Given the description of an element on the screen output the (x, y) to click on. 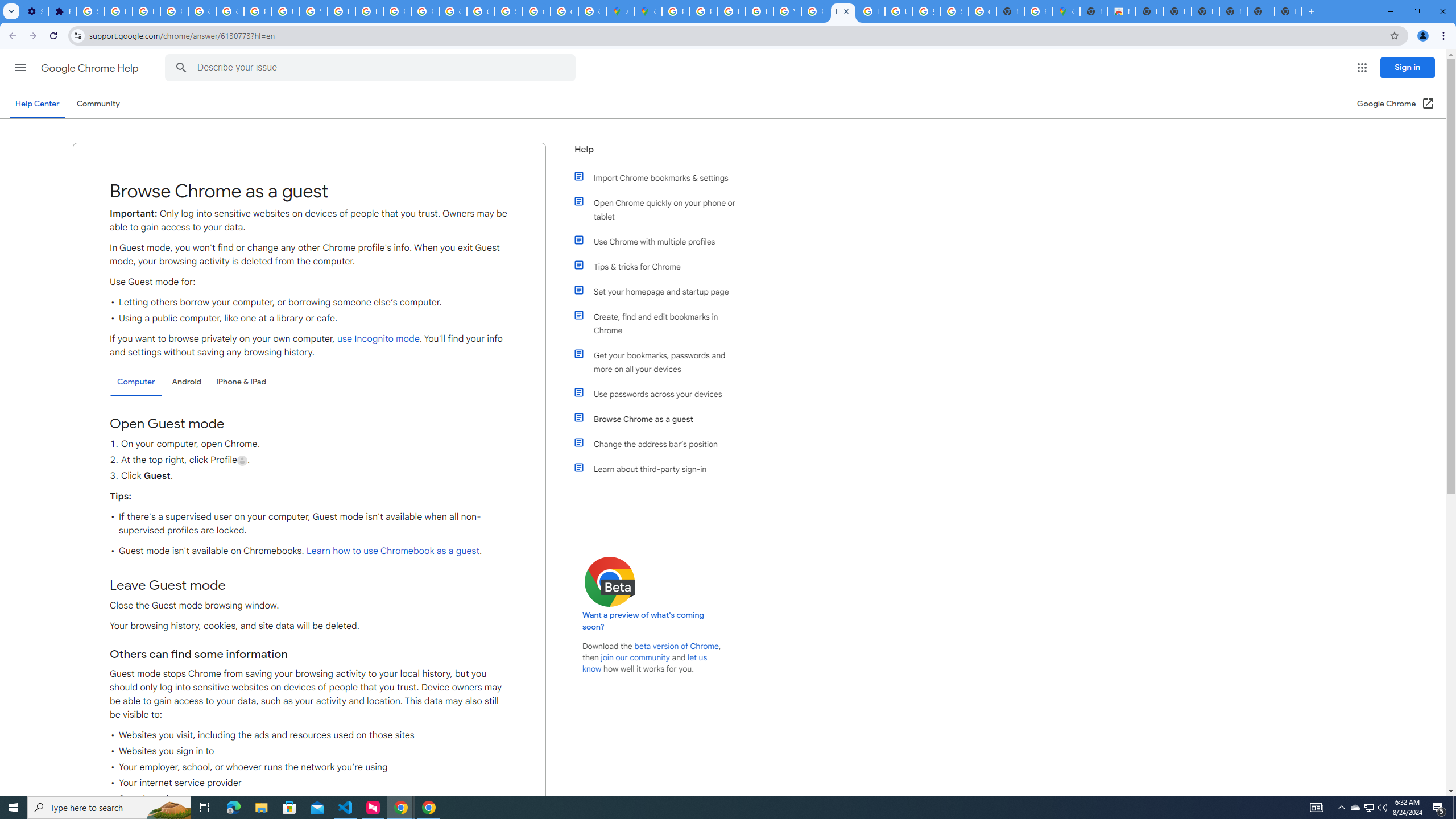
Explore new street-level details - Google Maps Help (1038, 11)
Want a preview of what's coming soon? (643, 621)
use Incognito mode (377, 338)
Android (186, 381)
Policy Accountability and Transparency - Transparency Center (675, 11)
Chrome Beta logo (609, 581)
Get your bookmarks, passwords and more on all your devices (661, 362)
Google Chrome (Open in a new window) (1395, 103)
